Given the description of an element on the screen output the (x, y) to click on. 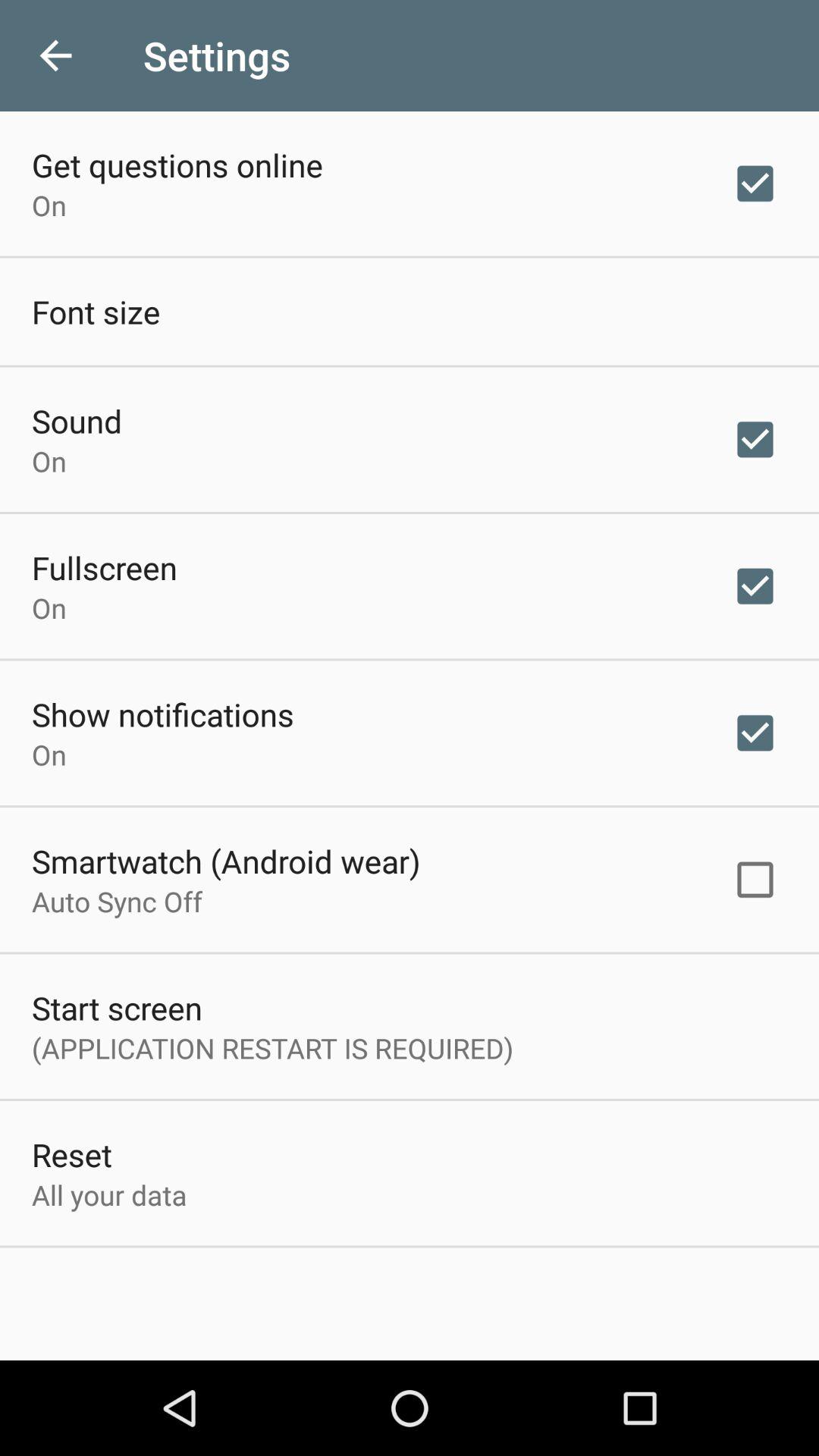
flip to all your data item (109, 1194)
